Given the description of an element on the screen output the (x, y) to click on. 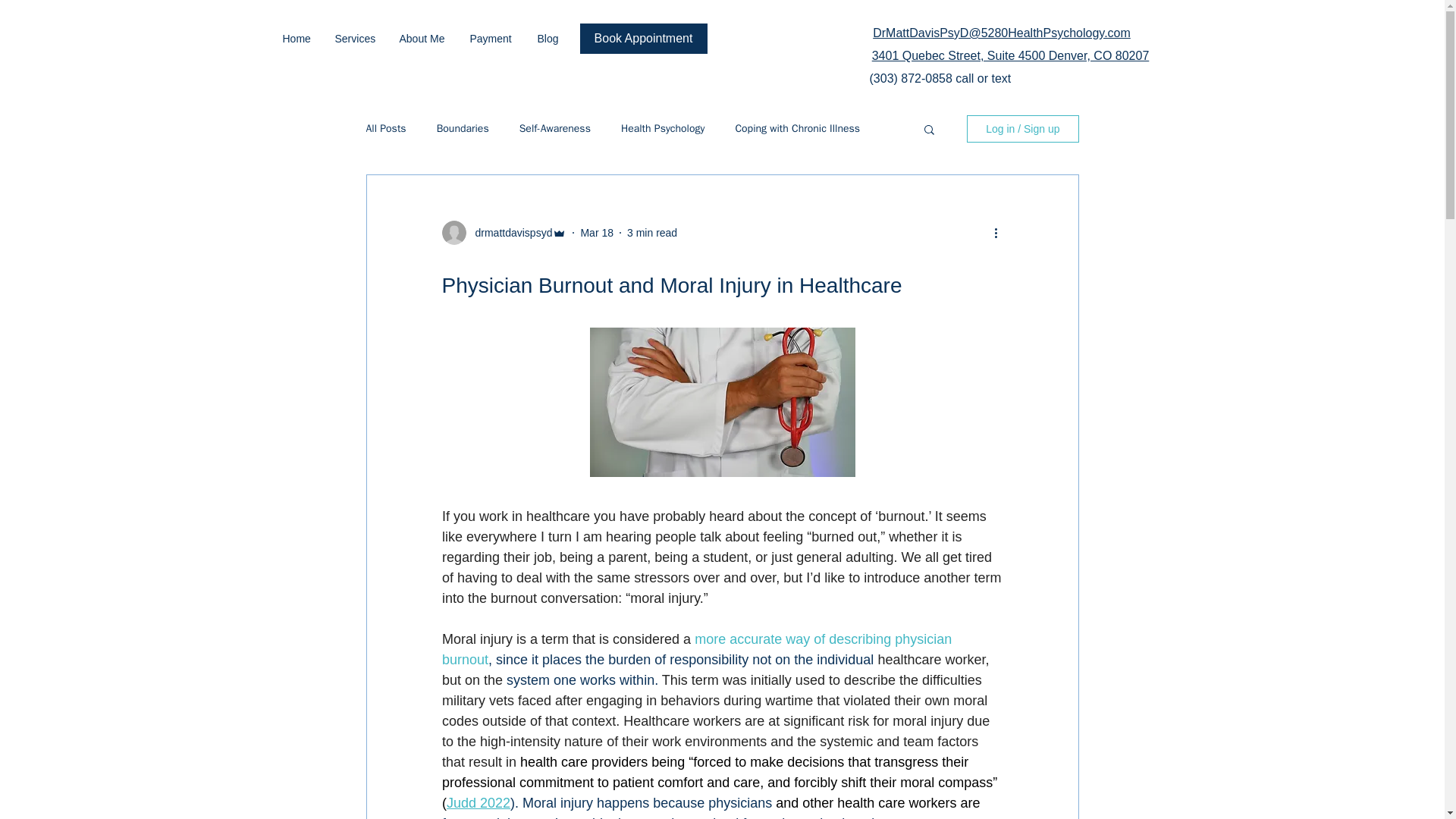
Payment (491, 38)
Boundaries (462, 128)
more accurate way of describing physician burnout (698, 649)
Services (355, 38)
Blog (548, 38)
3401 Quebec Street, Suite 4500 Denver, CO 80207 (1011, 55)
3 min read (652, 232)
Mar 18 (595, 232)
Health Psychology (662, 128)
Coping with Chronic Illness (797, 128)
drmattdavispsyd (508, 232)
Book Appointment (642, 38)
Self-Awareness (555, 128)
Judd 2022 (477, 802)
All Posts (385, 128)
